Given the description of an element on the screen output the (x, y) to click on. 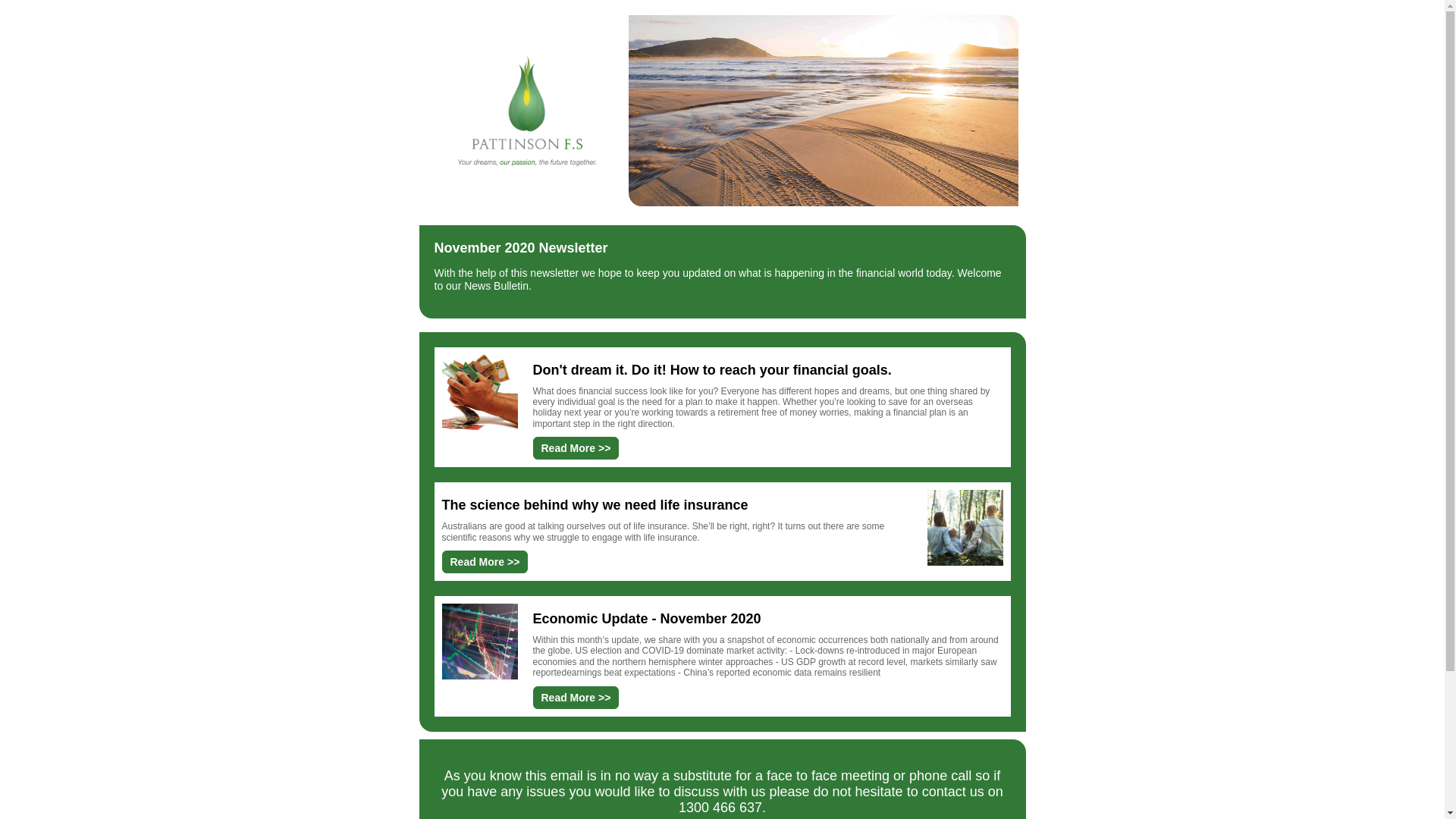
Read More >> Element type: text (575, 447)
Read More >> Element type: text (484, 561)
Read More >> Element type: text (575, 696)
